Given the description of an element on the screen output the (x, y) to click on. 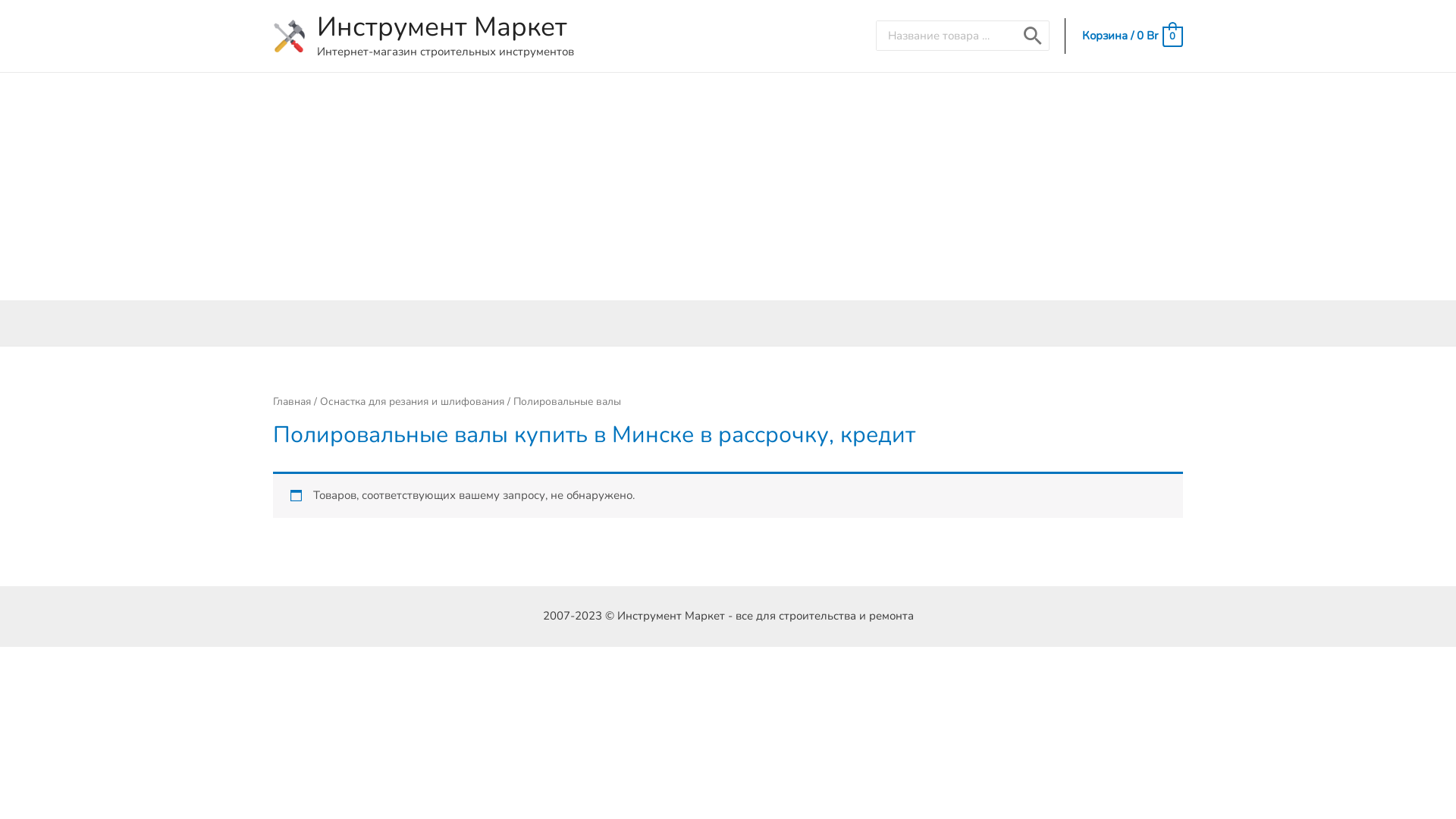
Advertisement Element type: hover (728, 186)
